Given the description of an element on the screen output the (x, y) to click on. 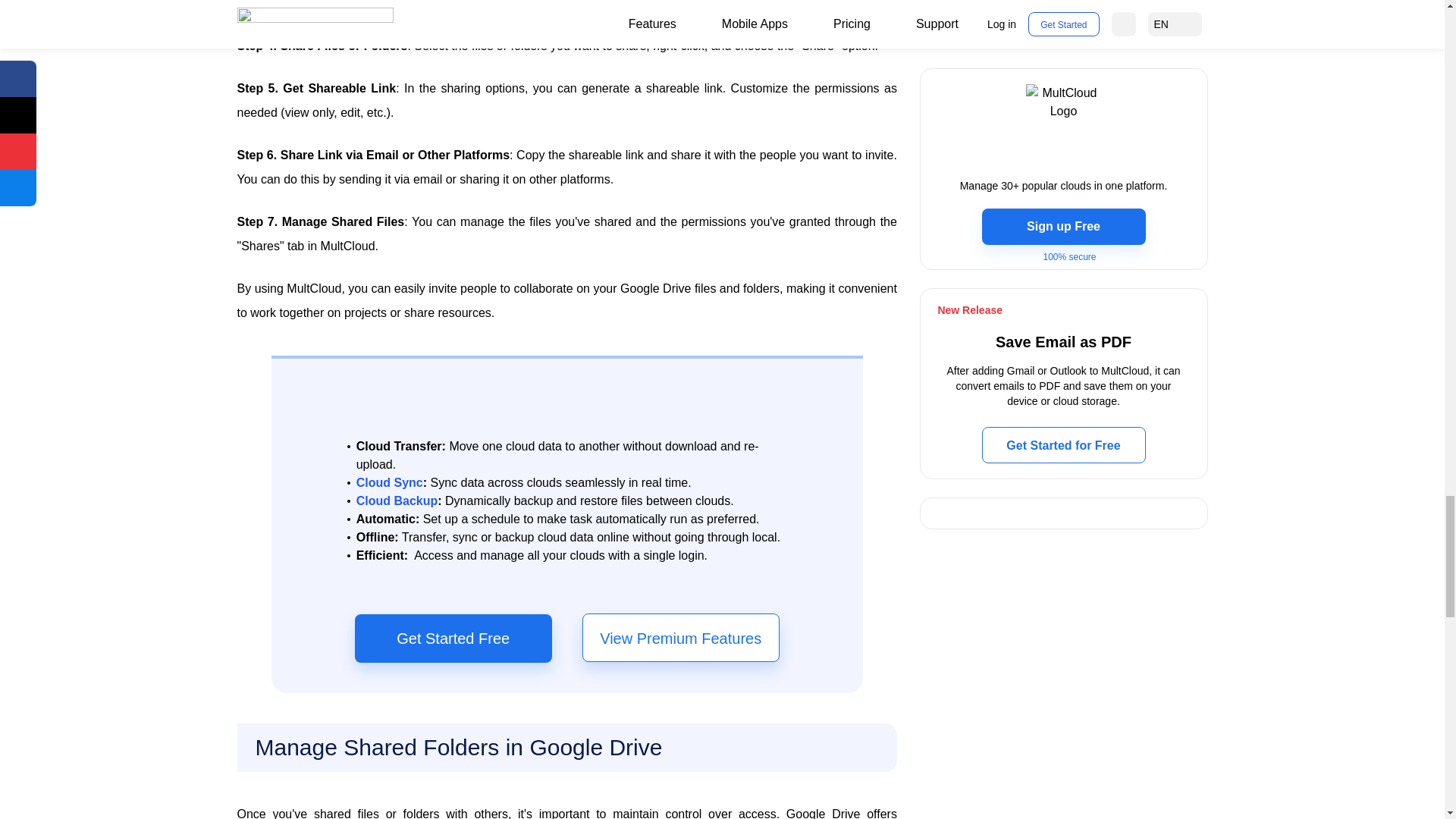
Get Started Free (453, 638)
Cloud Backup (397, 501)
View Premium Features (680, 637)
Cloud Sync (389, 483)
